Given the description of an element on the screen output the (x, y) to click on. 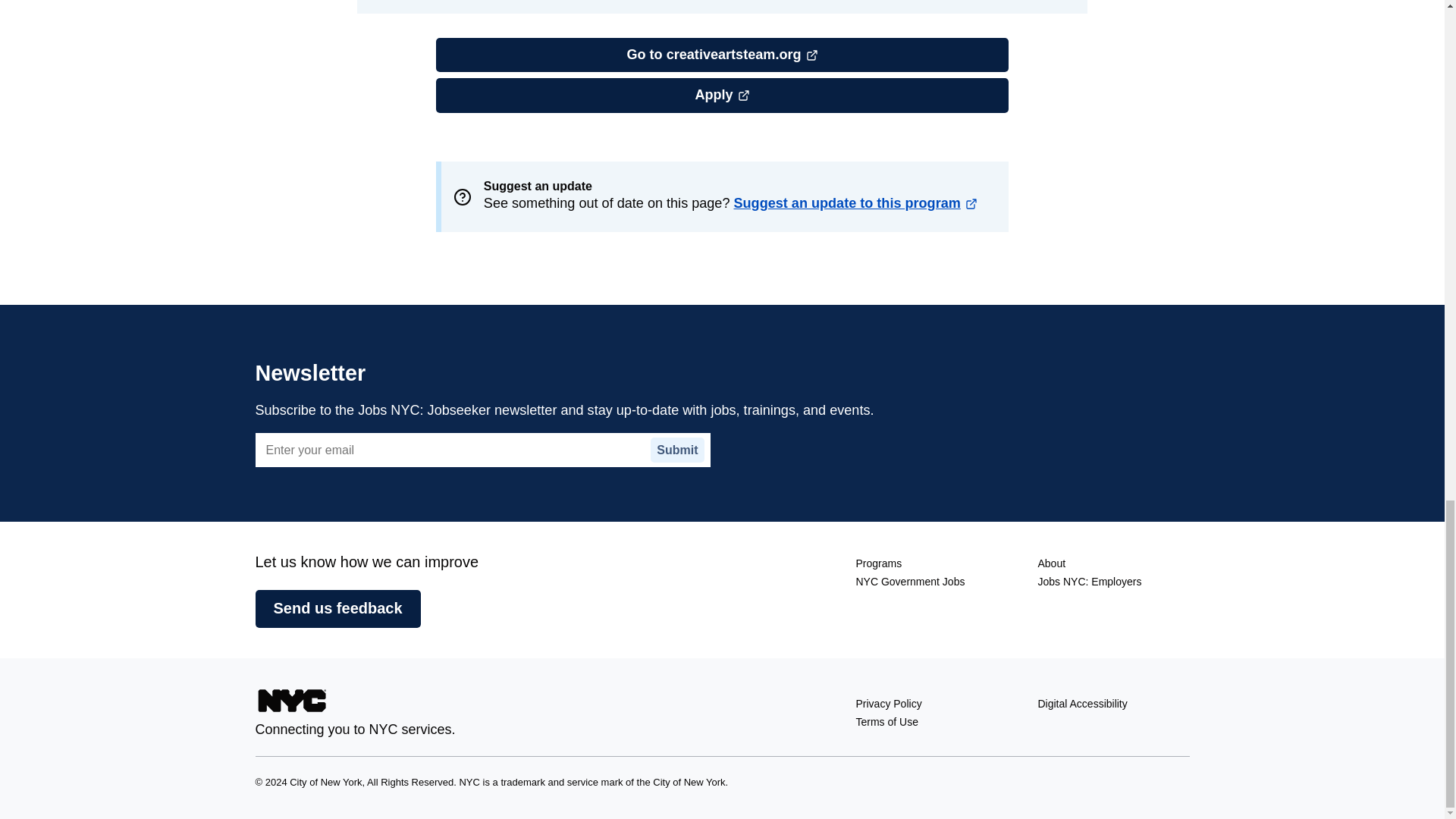
NYC (291, 703)
Go to creativeartsteam.org (722, 54)
Suggest an update to this program (722, 95)
